Given the description of an element on the screen output the (x, y) to click on. 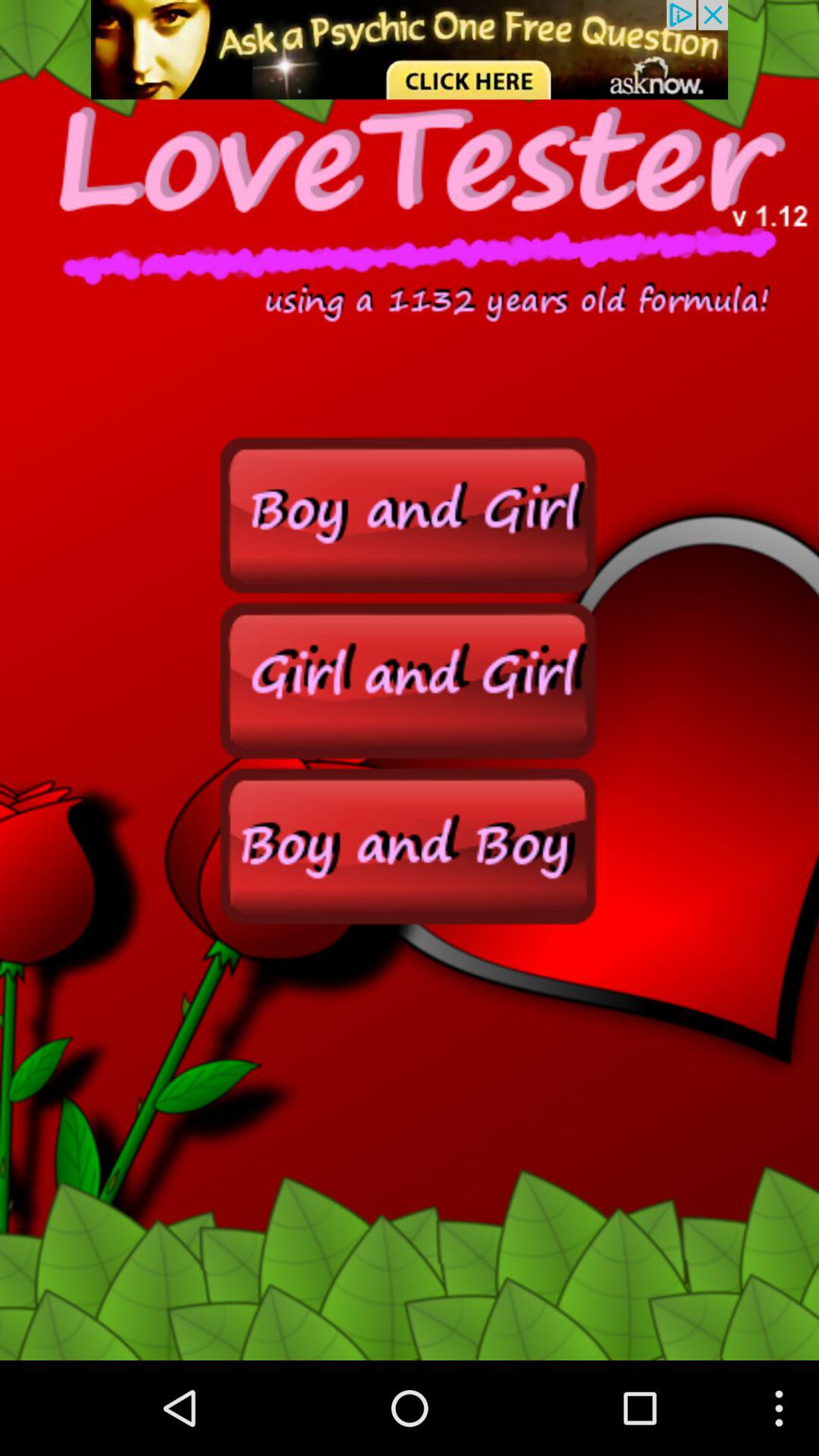
test for male and female couple (409, 845)
